Given the description of an element on the screen output the (x, y) to click on. 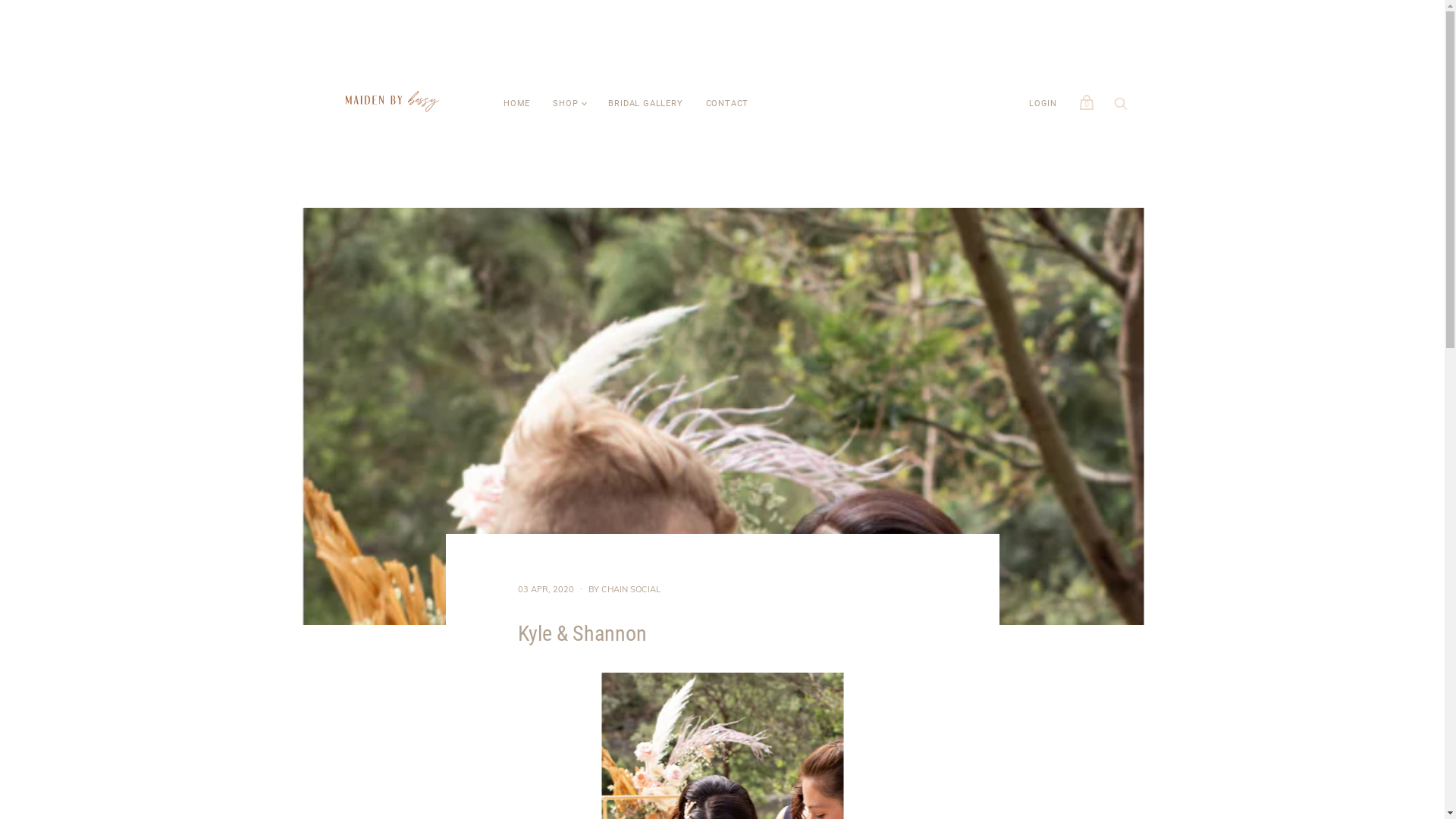
0 Element type: text (1086, 102)
LOGIN Element type: text (1042, 103)
HOME Element type: text (516, 103)
CONTACT Element type: text (727, 103)
BRIDAL GALLERY Element type: text (644, 103)
SHOP Element type: text (565, 103)
